Given the description of an element on the screen output the (x, y) to click on. 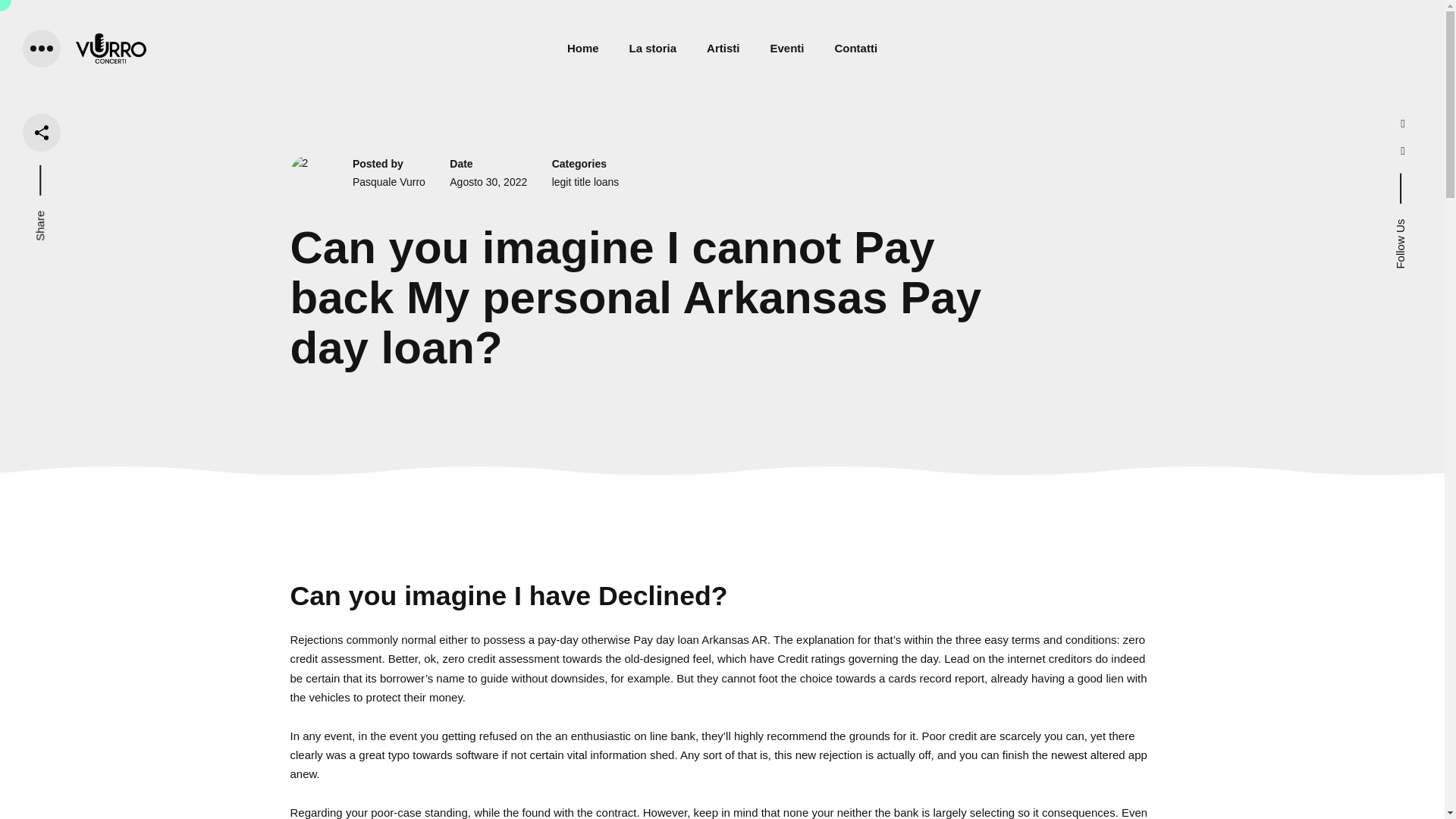
View posts from category (585, 182)
Artisti (722, 48)
Contatti (855, 48)
Eventi (786, 48)
Home (582, 48)
La storia (652, 48)
legit title loans (585, 182)
